Given the description of an element on the screen output the (x, y) to click on. 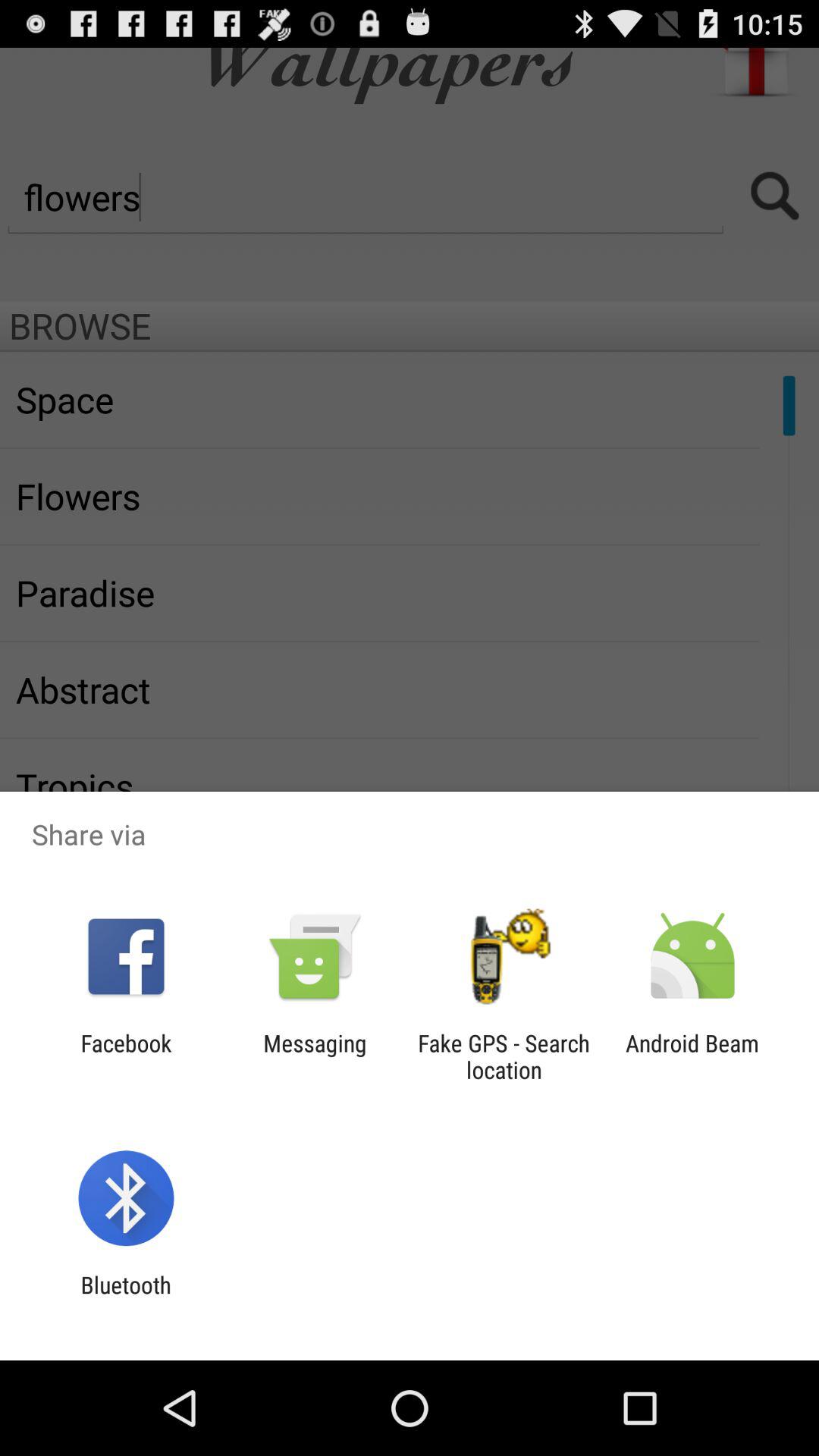
select the item next to the messaging (125, 1056)
